Given the description of an element on the screen output the (x, y) to click on. 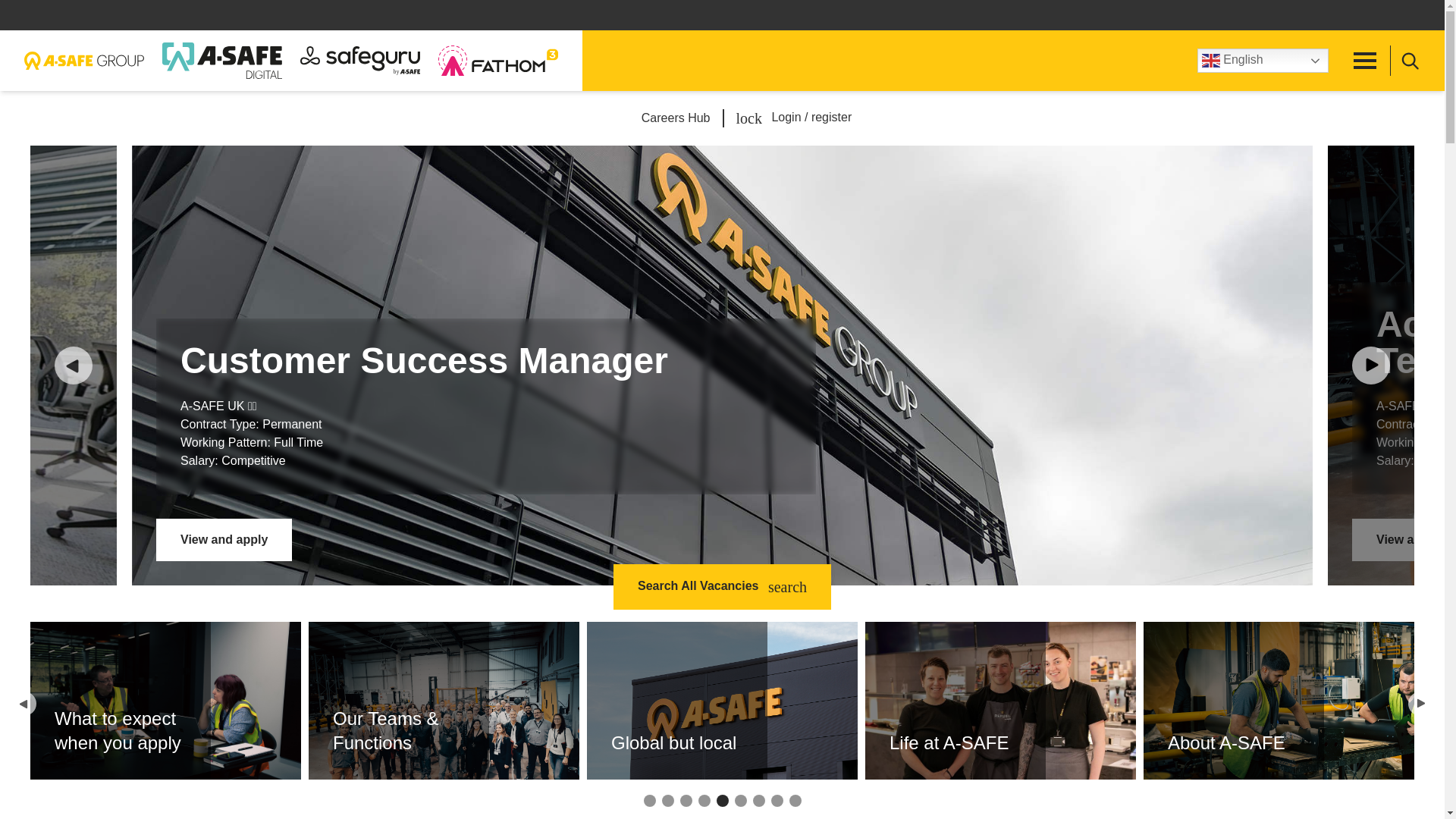
Search All Vacancies search (721, 586)
Careers Hub (676, 117)
English (1261, 60)
View and apply (223, 539)
